Given the description of an element on the screen output the (x, y) to click on. 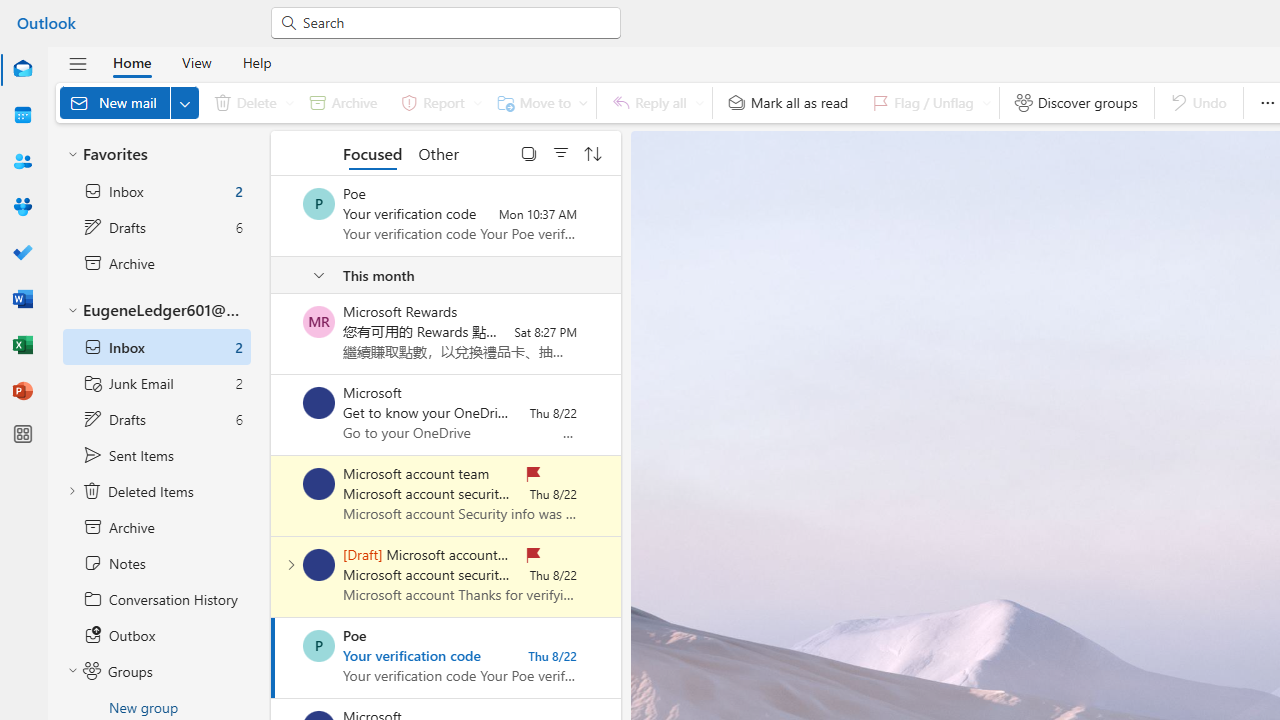
Word (22, 299)
To Do (22, 252)
New mail (129, 102)
Search for email, meetings, files and more. (454, 21)
Word (22, 298)
Mark as read (273, 657)
Select a conversation (319, 645)
Microsoft (319, 403)
Move to (538, 102)
Expand to see more report options (477, 102)
Mark all as read (788, 102)
